Given the description of an element on the screen output the (x, y) to click on. 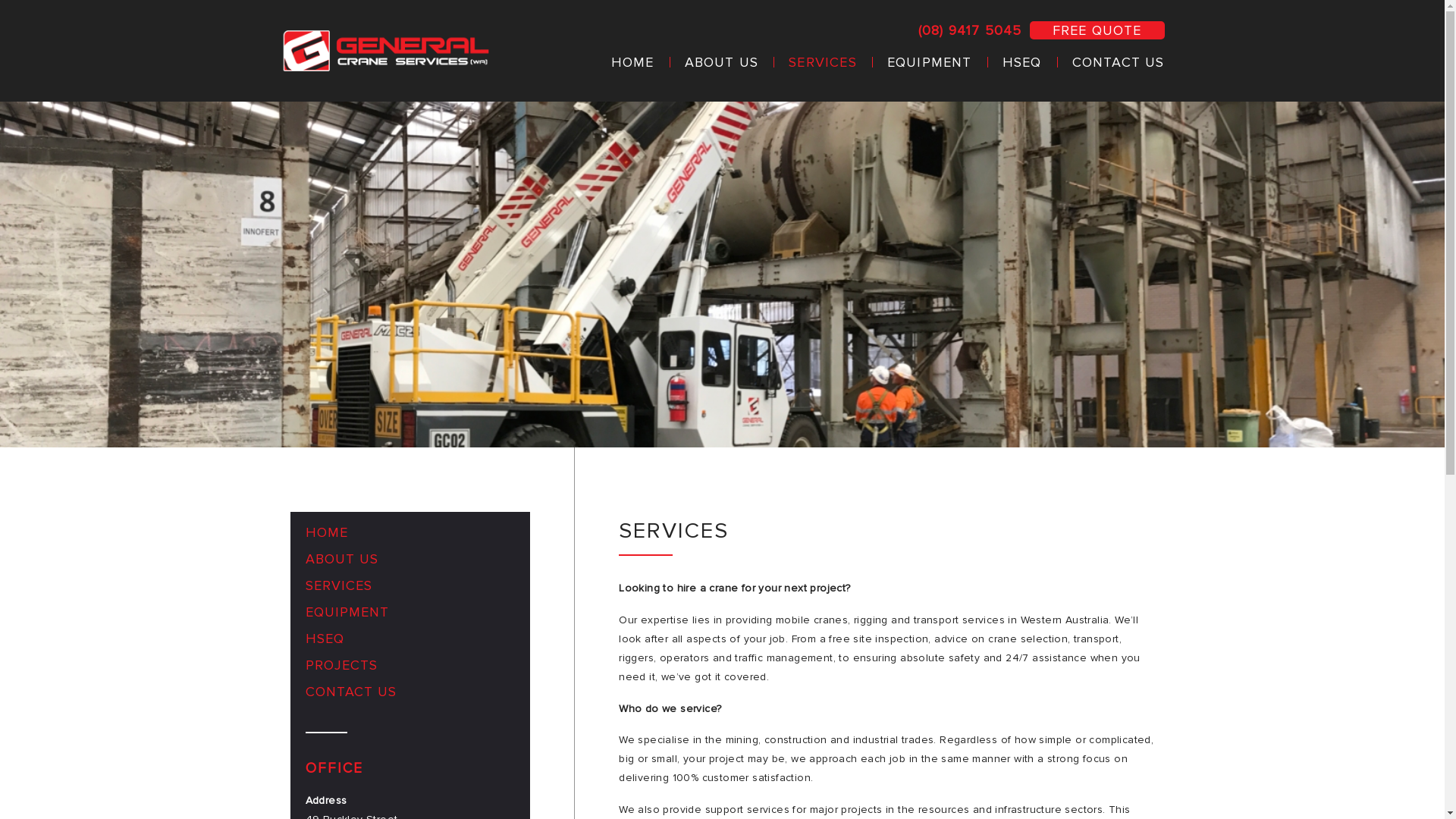
CONTACT US Element type: text (409, 695)
EQUIPMENT Element type: text (409, 615)
EQUIPMENT Element type: text (929, 62)
PROJECTS Element type: text (409, 668)
SERVICES Element type: text (409, 589)
CONTACT US Element type: text (1110, 62)
(08) 9417 5045 Element type: text (969, 30)
FREE QUOTE Element type: text (1096, 30)
HSEQ Element type: text (1022, 62)
HOME Element type: text (632, 62)
ABOUT US Element type: text (721, 62)
HSEQ Element type: text (409, 642)
General Crane Services Element type: hover (386, 50)
SERVICES Element type: text (822, 62)
HOME Element type: text (409, 536)
ABOUT US Element type: text (409, 562)
